Given the description of an element on the screen output the (x, y) to click on. 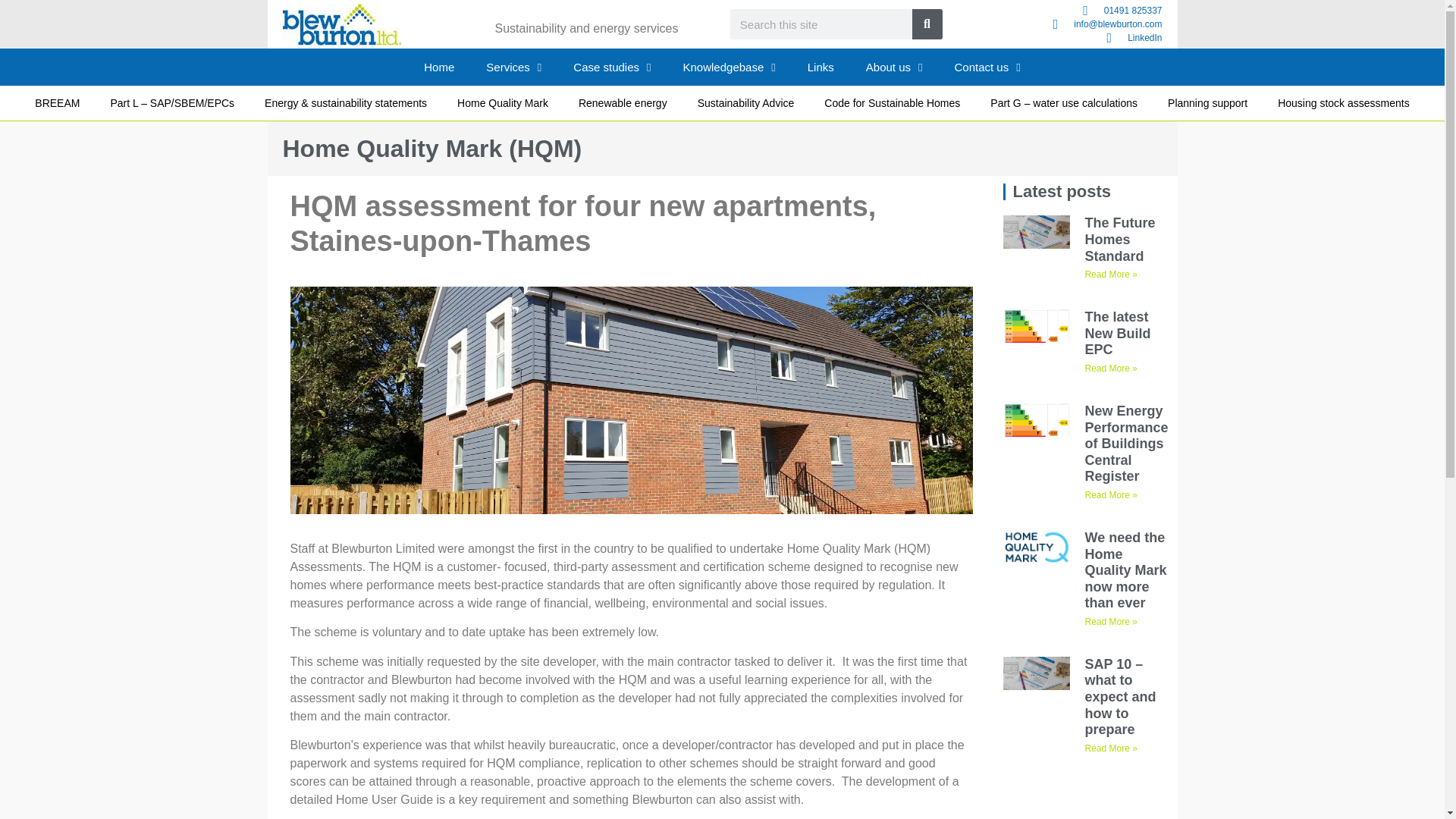
Case studies (611, 67)
Knowledgebase (729, 67)
01491 825337 (1055, 10)
Services (513, 67)
Home (438, 67)
LinkedIn (1055, 38)
